Given the description of an element on the screen output the (x, y) to click on. 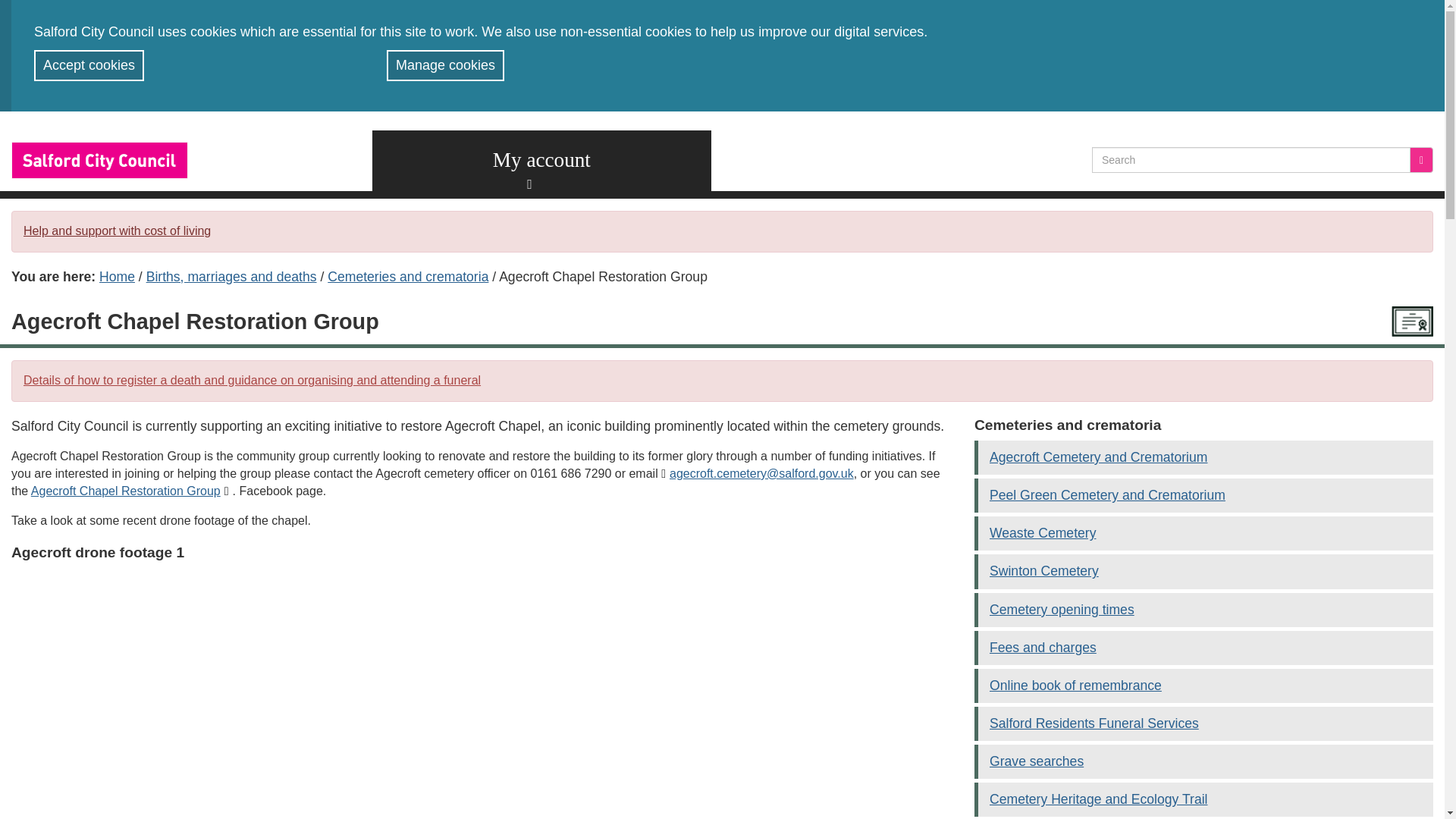
Registering a death (251, 379)
My account (541, 160)
Grave searches (1036, 761)
Search site (1420, 159)
Home (117, 276)
Support with the Cost of Living (117, 230)
Weaste Cemetery (1043, 532)
Salford Residents Funeral Services (1094, 723)
Accept cookies (88, 65)
